Given the description of an element on the screen output the (x, y) to click on. 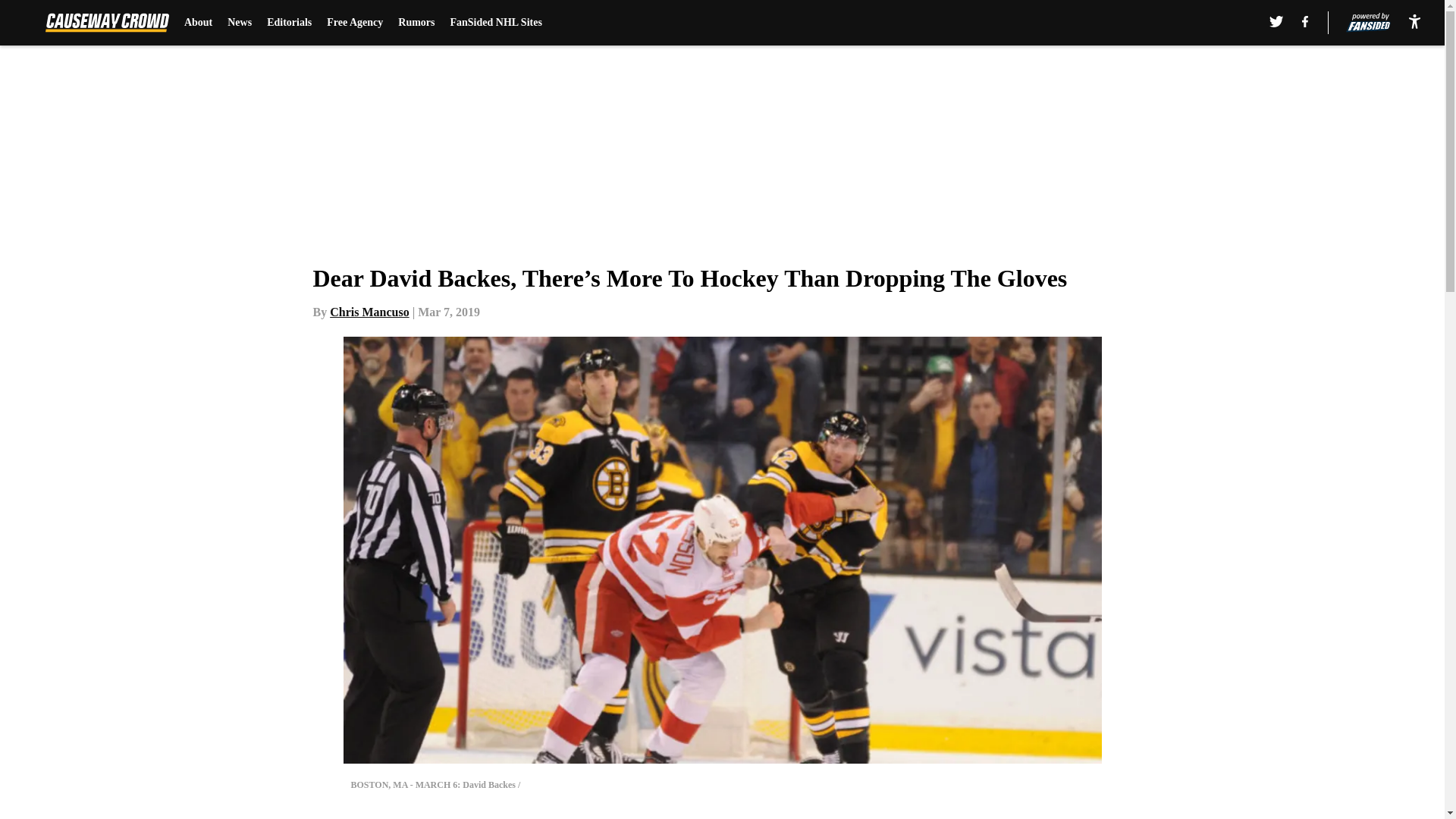
Chris Mancuso (369, 311)
About (198, 22)
Free Agency (354, 22)
Rumors (415, 22)
News (239, 22)
FanSided NHL Sites (495, 22)
Editorials (288, 22)
